Given the description of an element on the screen output the (x, y) to click on. 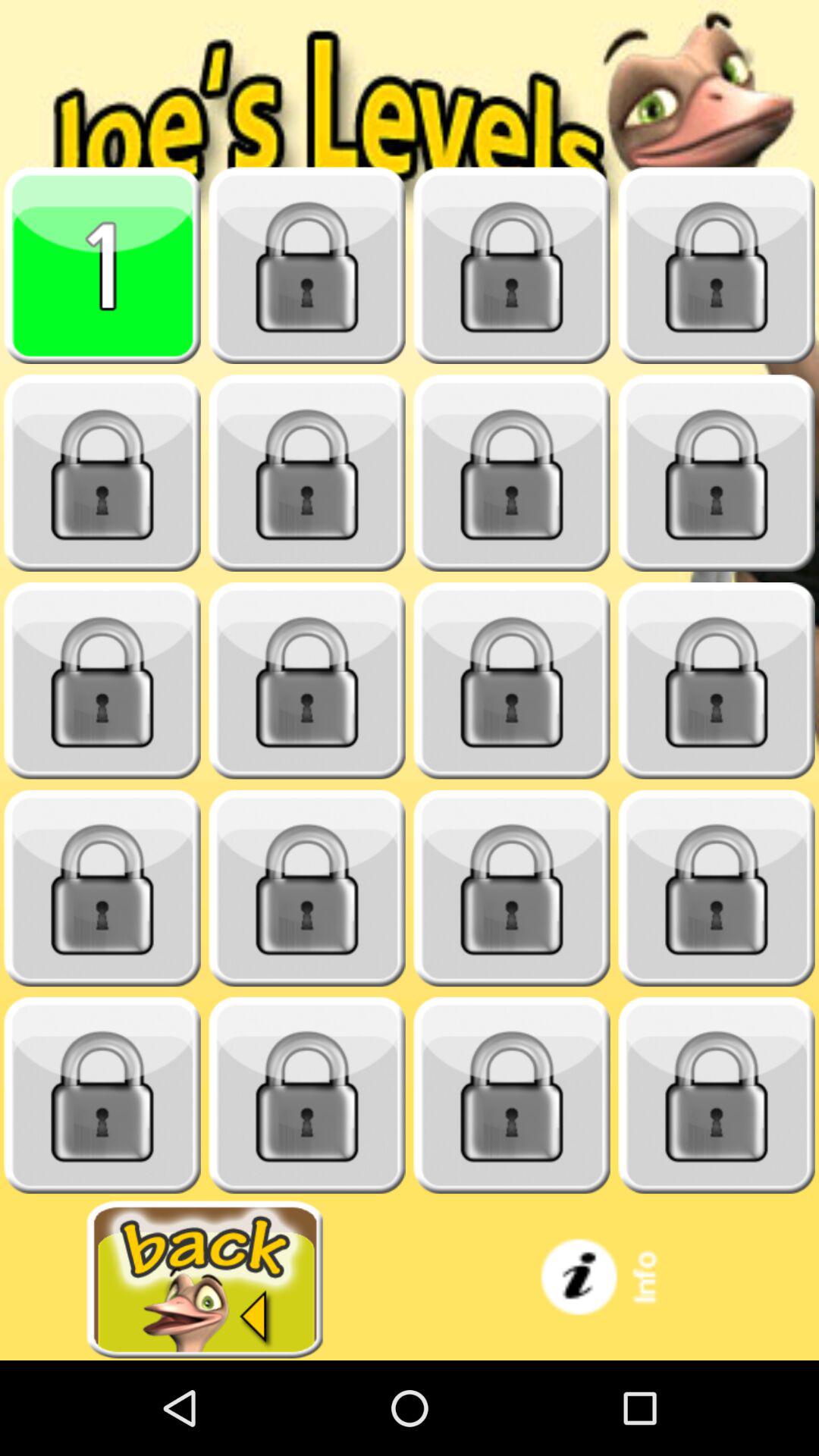
locked level (306, 887)
